Given the description of an element on the screen output the (x, y) to click on. 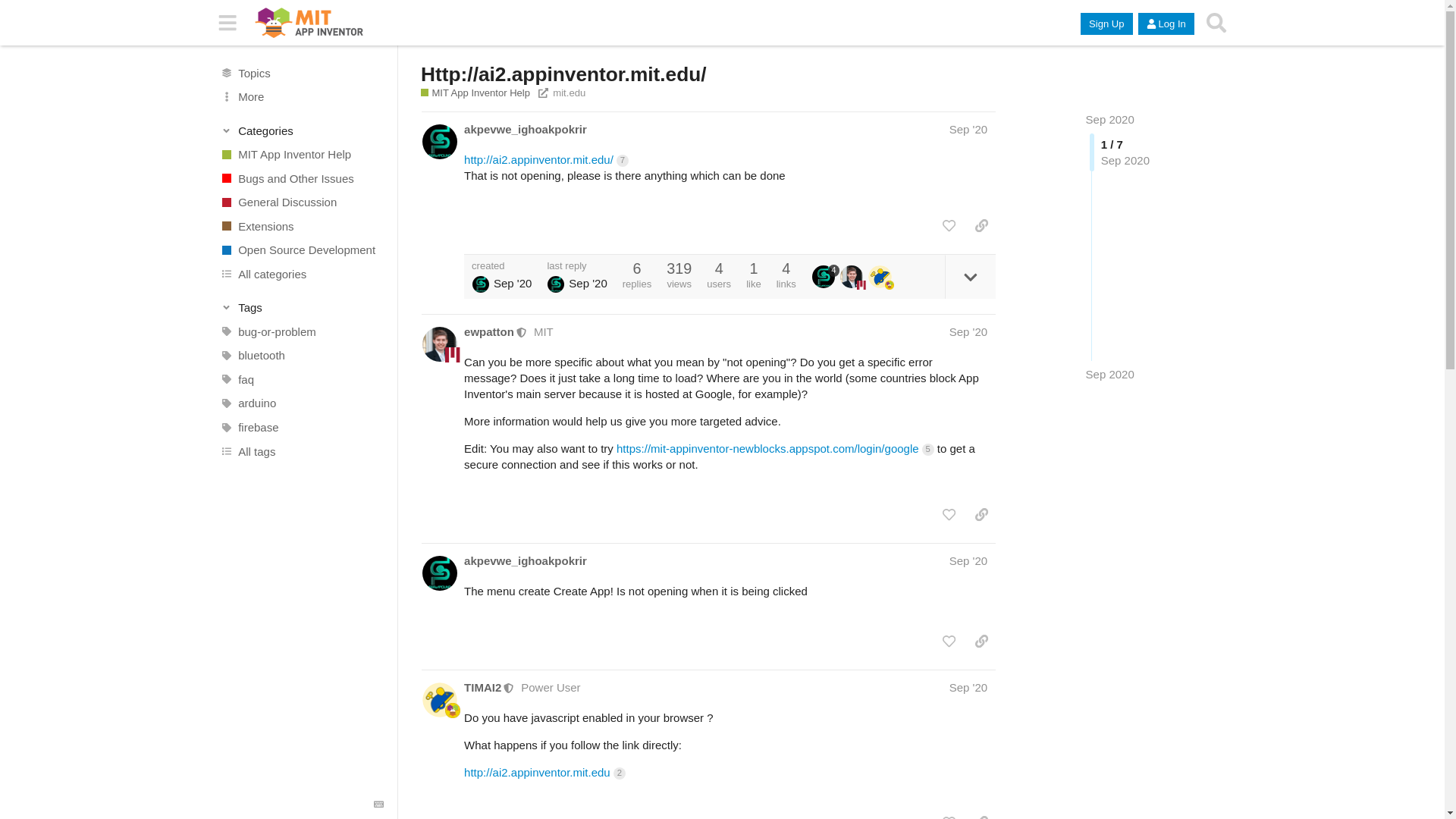
Categories (301, 130)
Sidebar (227, 22)
Log In (1165, 24)
faq (301, 379)
General Discussion (301, 202)
Keyboard Shortcuts (378, 805)
Toggle section (301, 130)
Sign Up (1106, 24)
mit.edu (562, 92)
Sep 2020 (1110, 119)
Toggle section (301, 307)
firebase (301, 427)
MIT App Inventor Help (301, 154)
MIT App Inventor Help (474, 92)
bluetooth (301, 355)
